Given the description of an element on the screen output the (x, y) to click on. 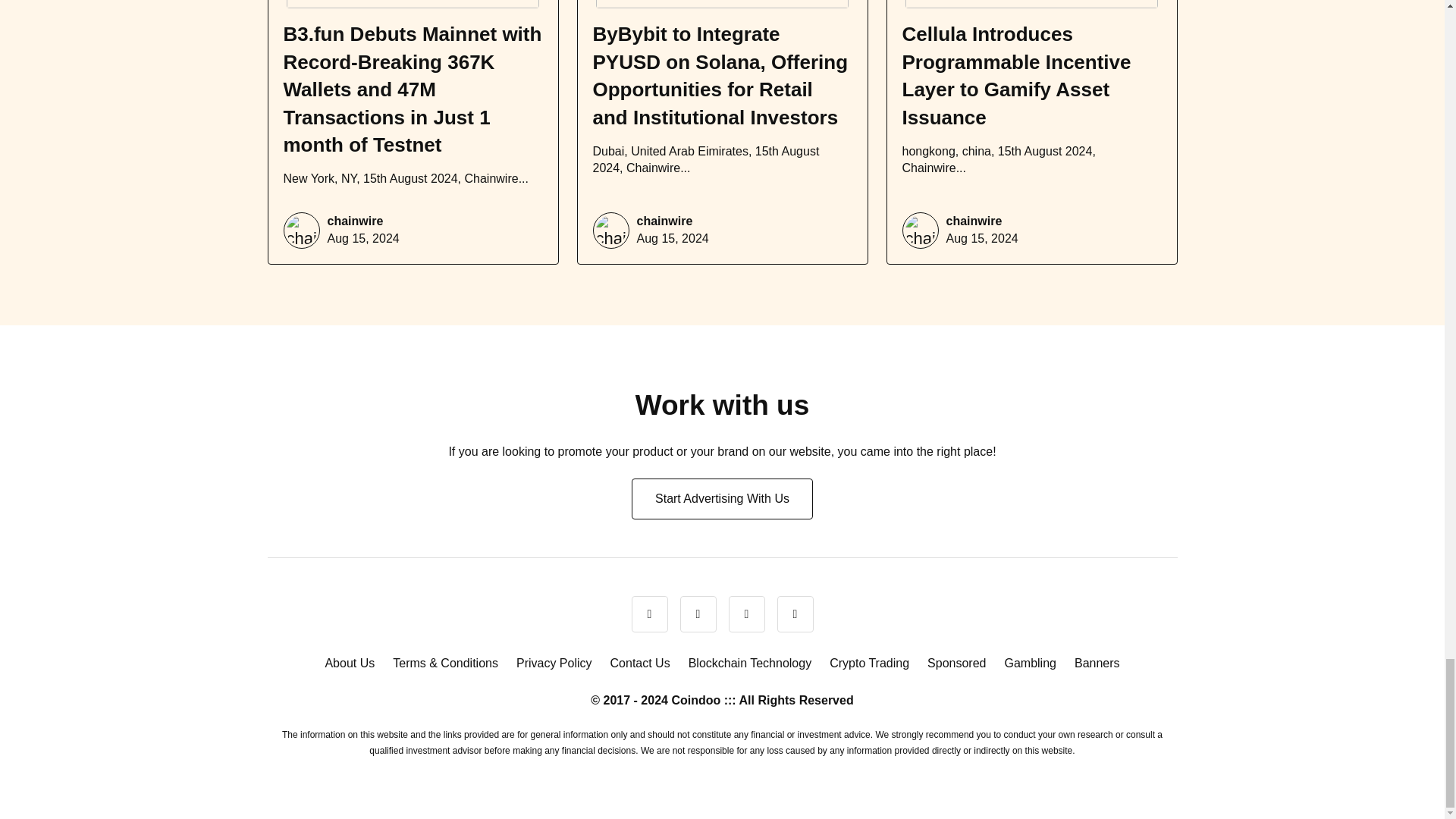
chainwire (665, 221)
chainwire (355, 221)
